Given the description of an element on the screen output the (x, y) to click on. 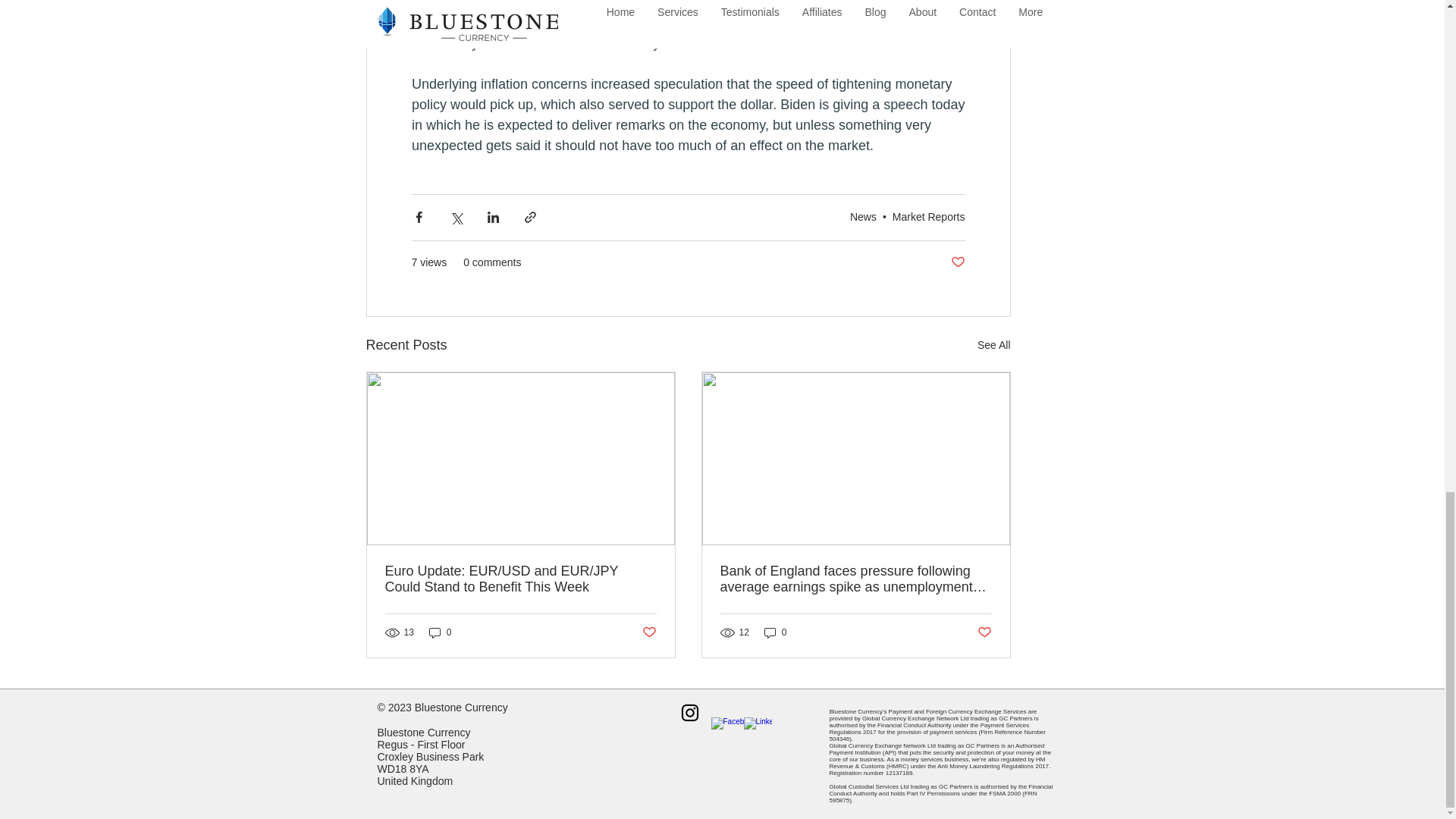
See All (993, 345)
Market Reports (928, 216)
News (863, 216)
0 (775, 632)
Post not marked as liked (983, 632)
0 (440, 632)
Post not marked as liked (957, 262)
Post not marked as liked (649, 632)
